Given the description of an element on the screen output the (x, y) to click on. 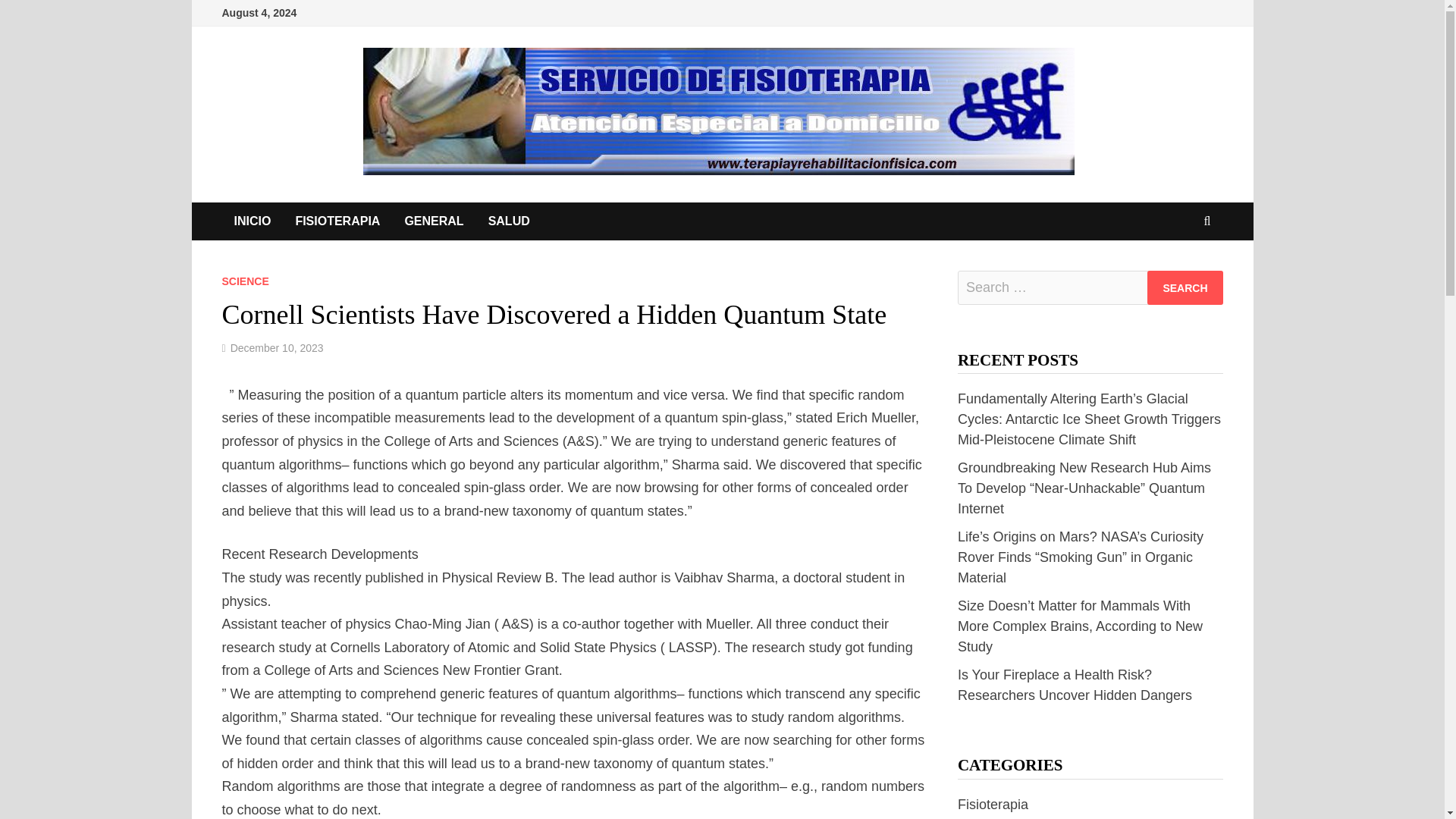
SCIENCE (244, 281)
SALUD (508, 221)
GENERAL (433, 221)
Search (1185, 287)
INICIO (251, 221)
Search (1185, 287)
December 10, 2023 (276, 347)
Search (1185, 287)
FISIOTERAPIA (336, 221)
